Given the description of an element on the screen output the (x, y) to click on. 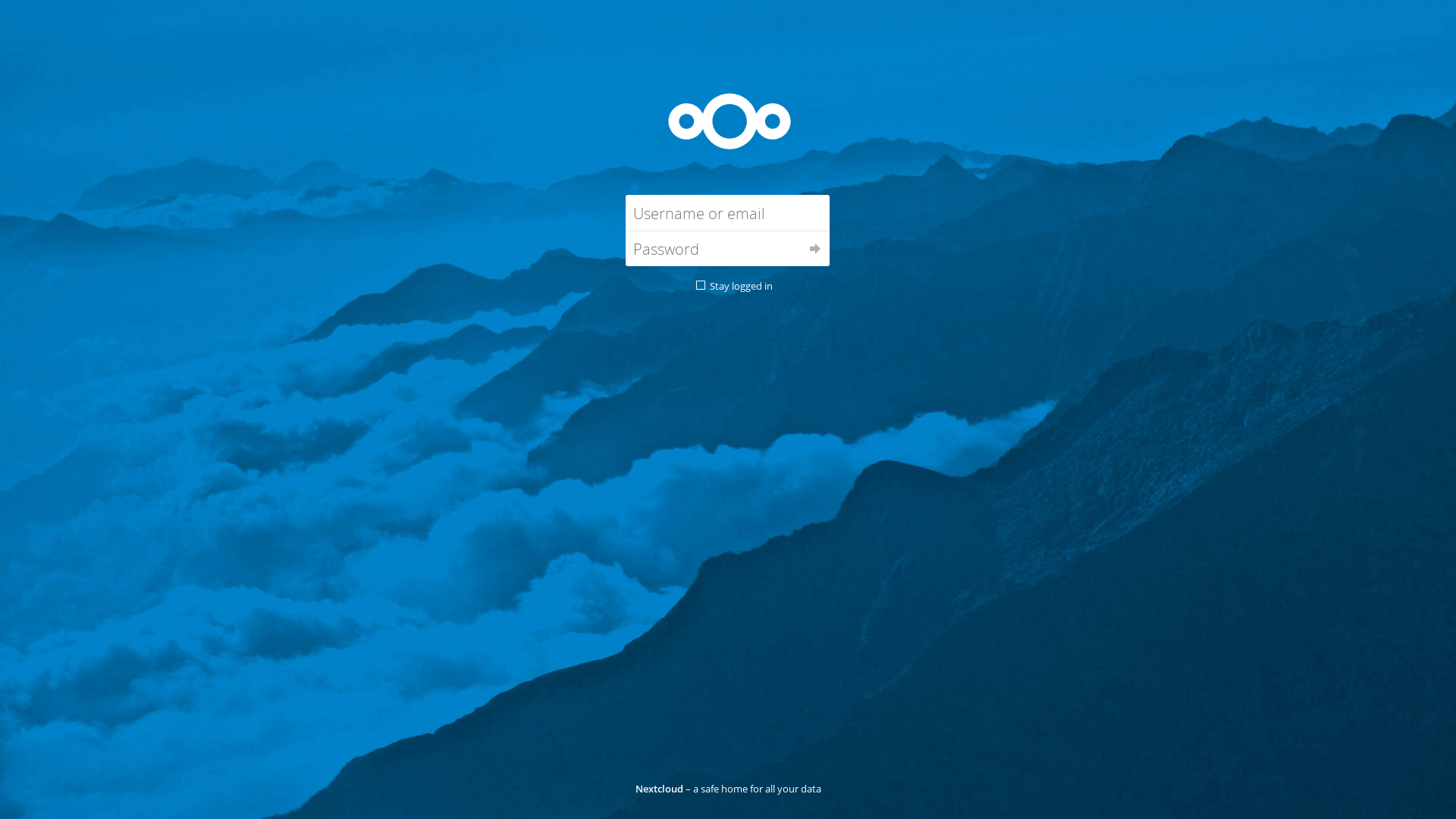
Nextcloud Element type: text (658, 788)
Log in Element type: hover (815, 248)
